Given the description of an element on the screen output the (x, y) to click on. 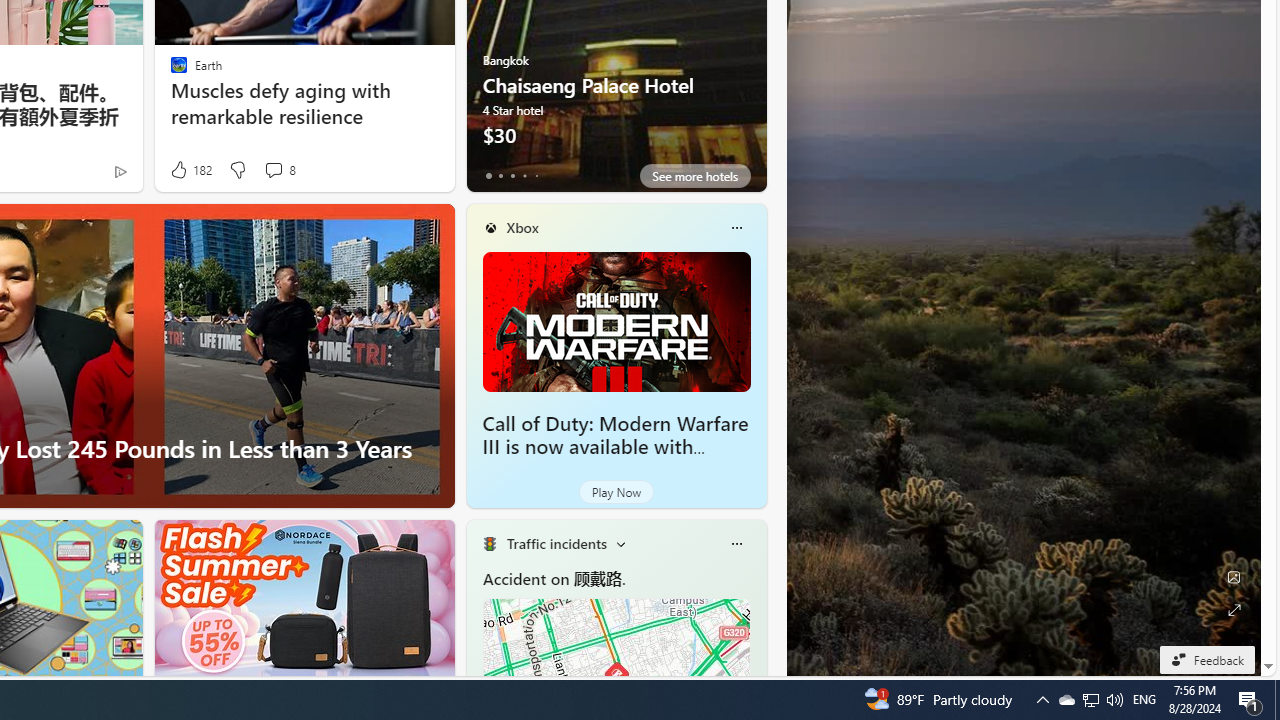
Expand background (1233, 610)
See more hotels (694, 175)
View comments 8 Comment (273, 169)
tab-4 (535, 175)
tab-2 (511, 175)
Traffic incidents (555, 543)
Edit Background (1233, 577)
